Given the description of an element on the screen output the (x, y) to click on. 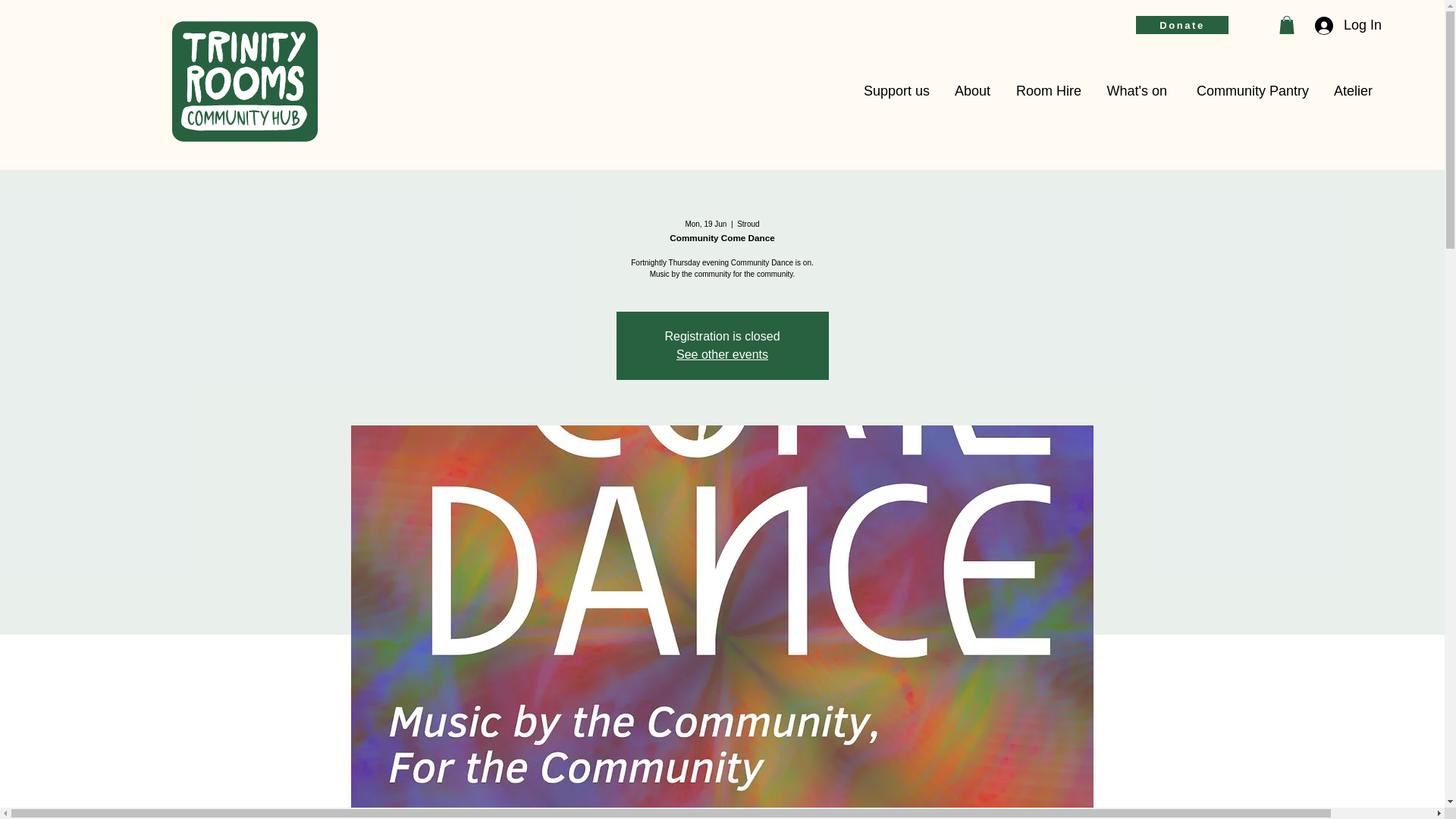
Log In (1344, 25)
Community Pantry (1248, 91)
Support us (894, 91)
Atelier (1352, 91)
Donate (1181, 24)
Room Hire (1047, 91)
See other events (722, 354)
What's on (1135, 91)
About (970, 91)
